Given the description of an element on the screen output the (x, y) to click on. 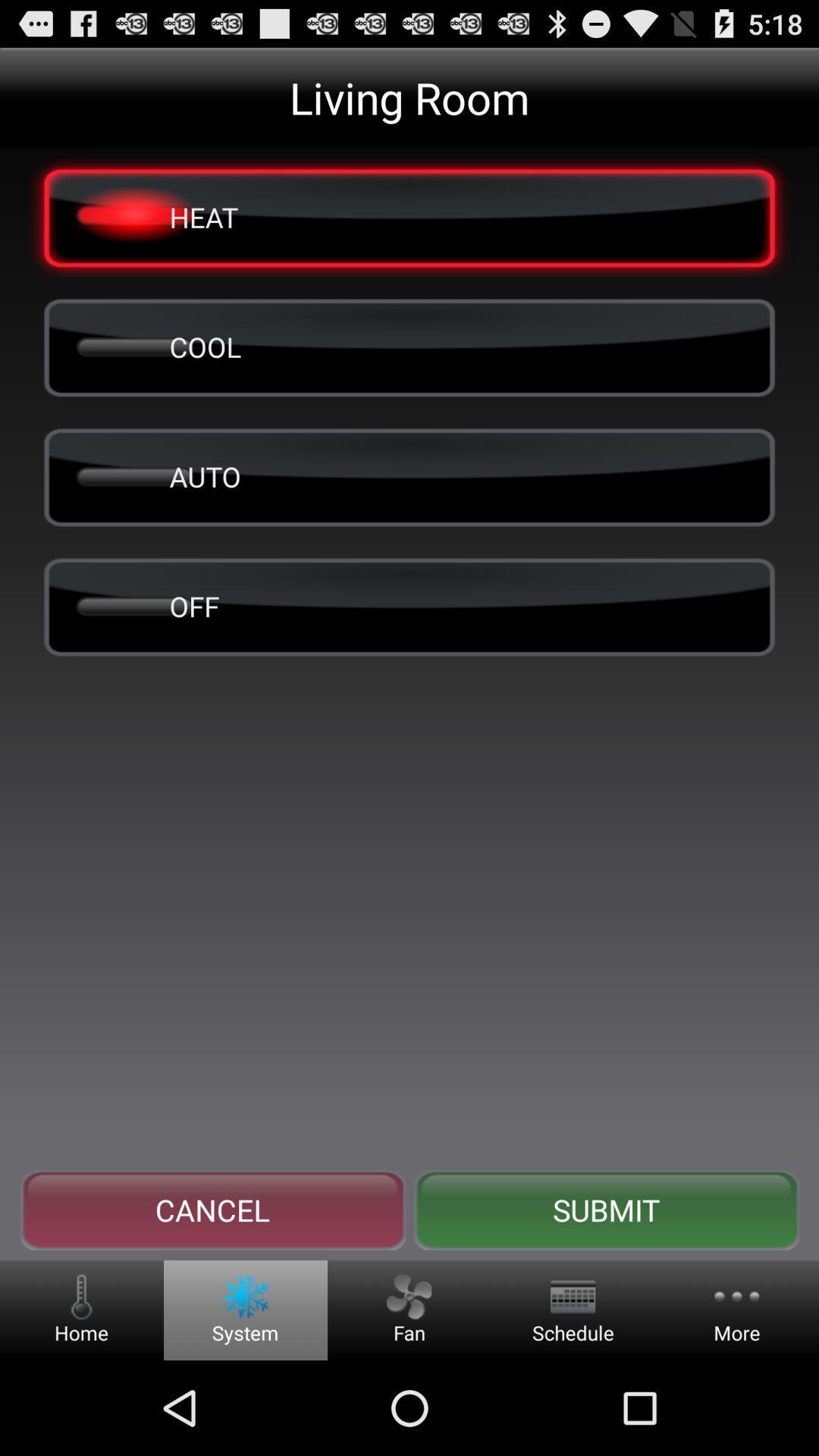
open the button above off icon (409, 476)
